Given the description of an element on the screen output the (x, y) to click on. 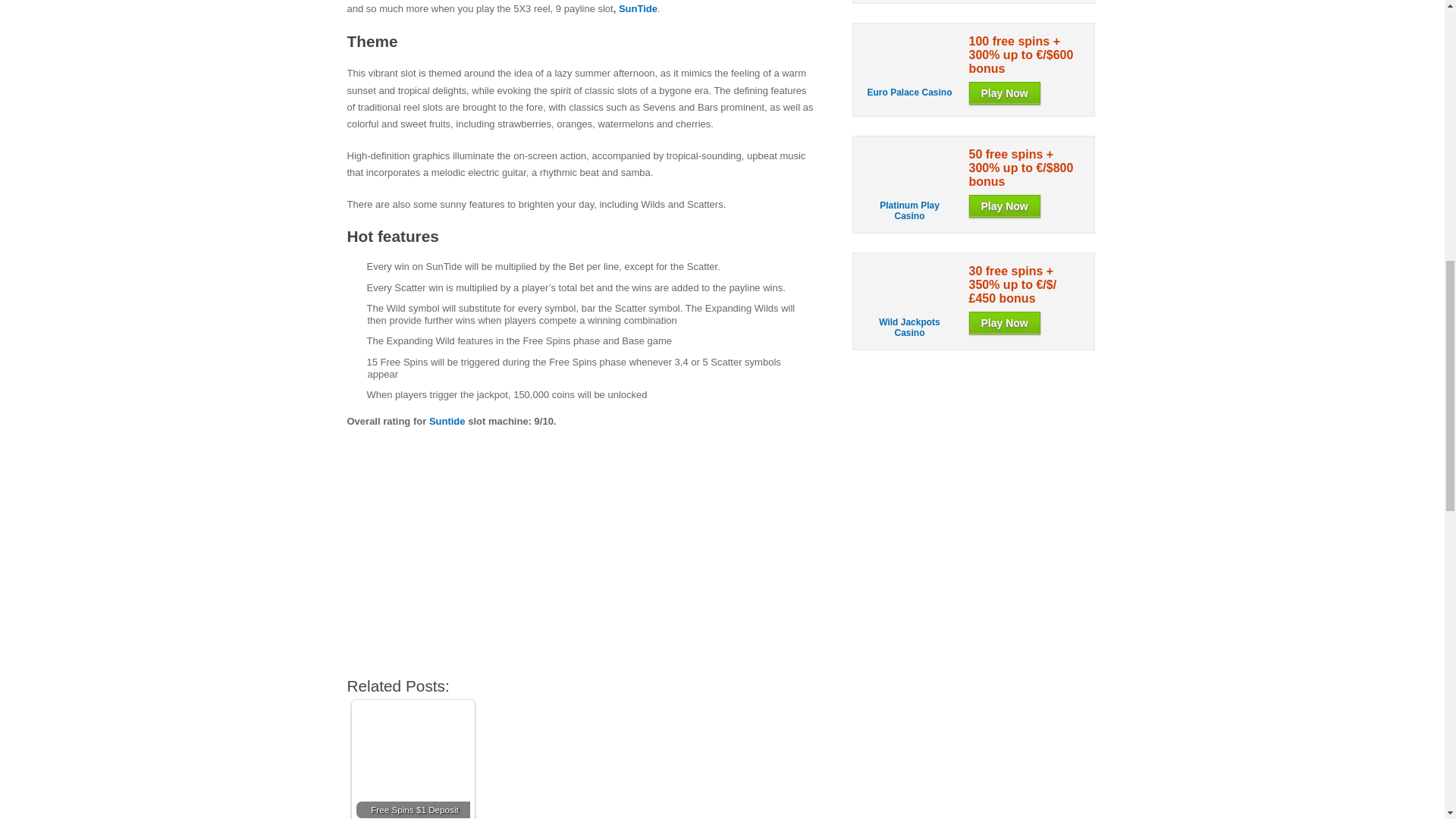
Euro Palace Casino (909, 76)
Play Now (1005, 92)
Wild Jackpots Casino (909, 306)
Suntide (447, 420)
Platinum Play Casino (909, 189)
Euro Palace Casino (909, 91)
SunTide (638, 8)
